Given the description of an element on the screen output the (x, y) to click on. 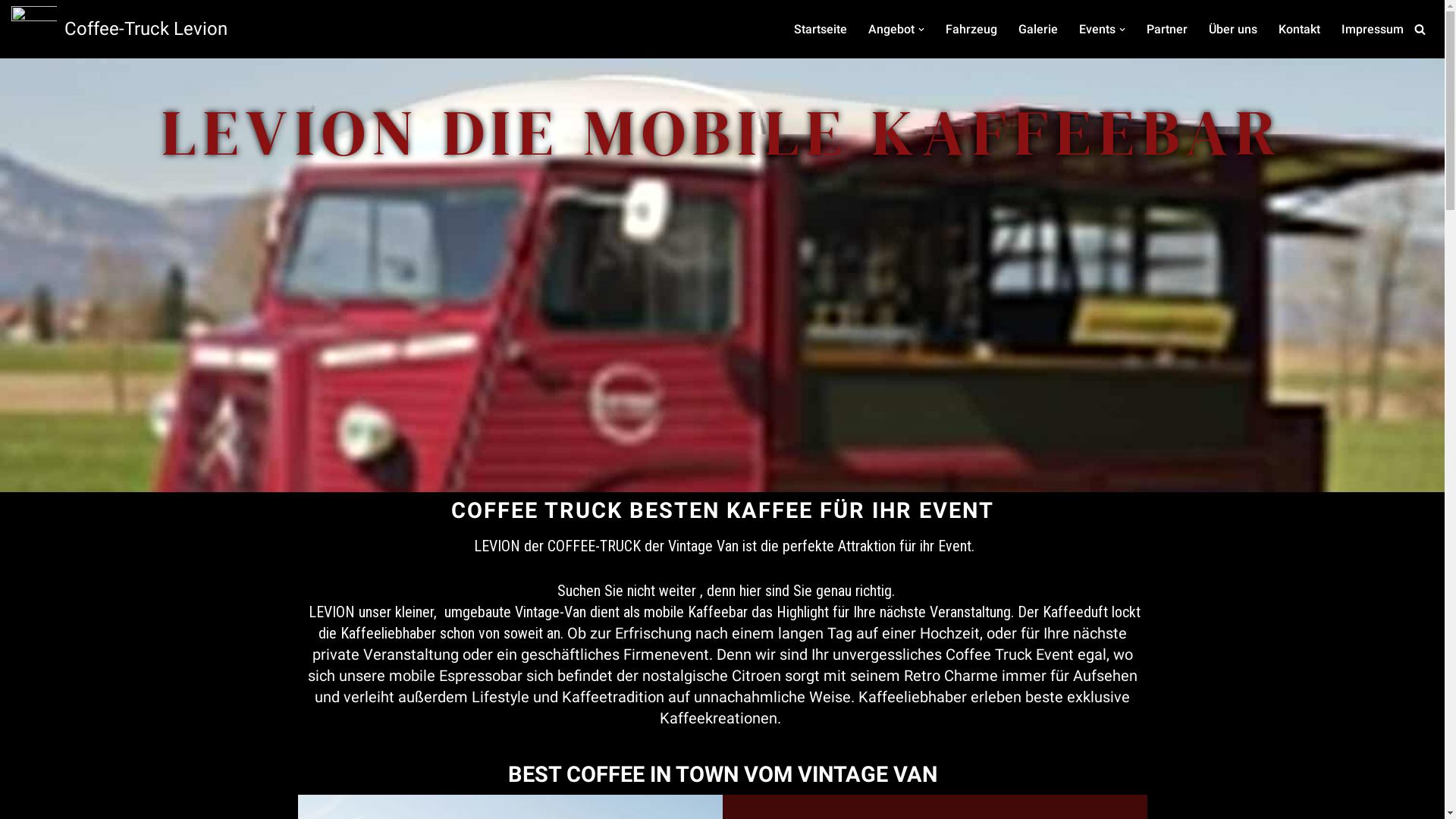
Startseite Element type: text (820, 28)
Galerie Element type: text (1037, 28)
Events Element type: text (1097, 28)
Fahrzeug Element type: text (971, 28)
Coffee-Truck Levion Element type: text (119, 28)
Impressum Element type: text (1372, 28)
Zum Inhalt Element type: text (11, 31)
Partner Element type: text (1166, 28)
Kontakt Element type: text (1299, 28)
Angebot Element type: text (891, 28)
